Given the description of an element on the screen output the (x, y) to click on. 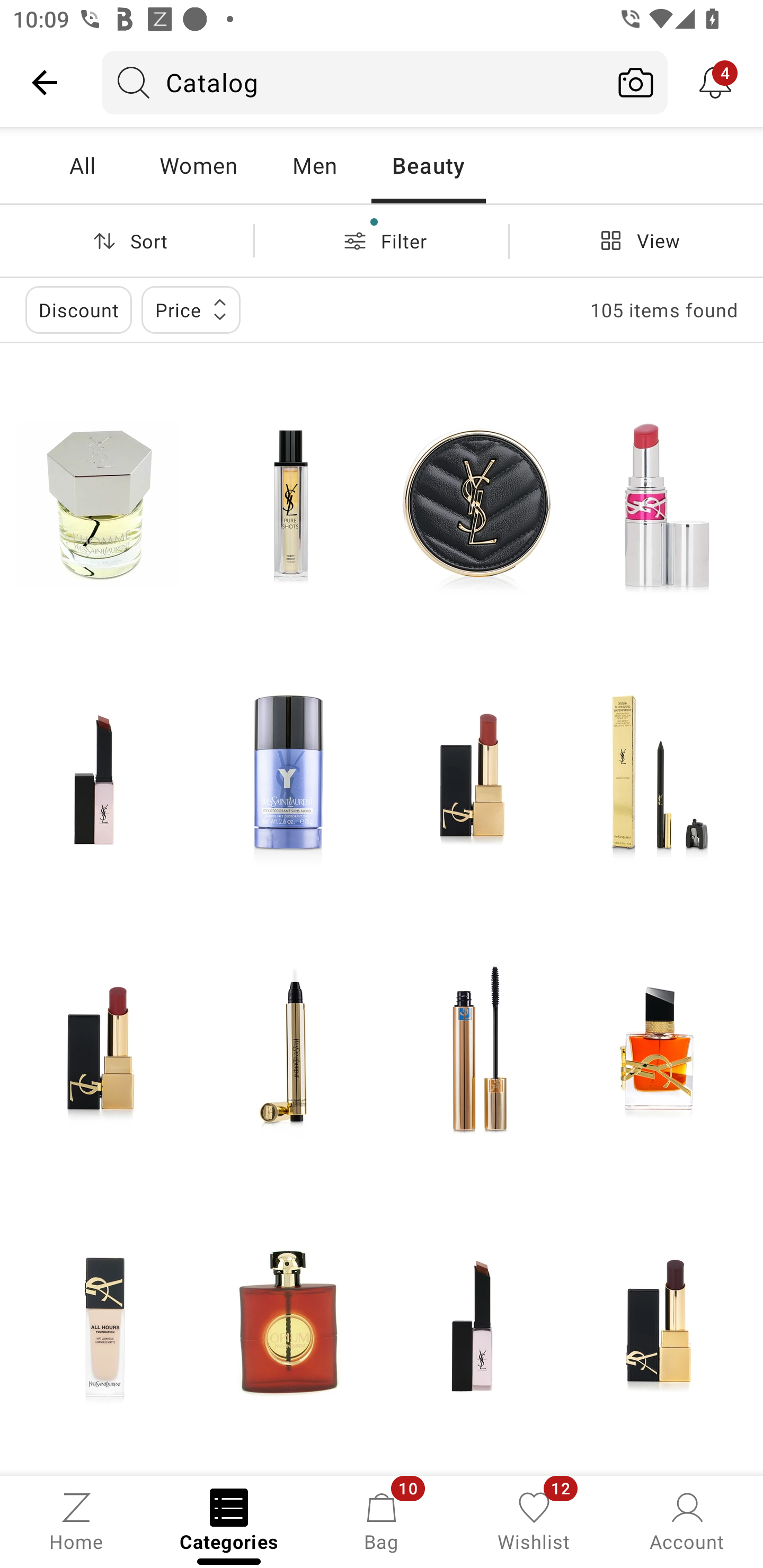
Navigate up (44, 82)
Catalog (352, 82)
All (82, 165)
Women (198, 165)
Men (314, 165)
Sort (126, 240)
Filter (381, 240)
View (636, 240)
Discount (78, 309)
Price (190, 309)
Home (76, 1519)
Bag, 10 new notifications Bag (381, 1519)
Wishlist, 12 new notifications Wishlist (533, 1519)
Account (686, 1519)
